Given the description of an element on the screen output the (x, y) to click on. 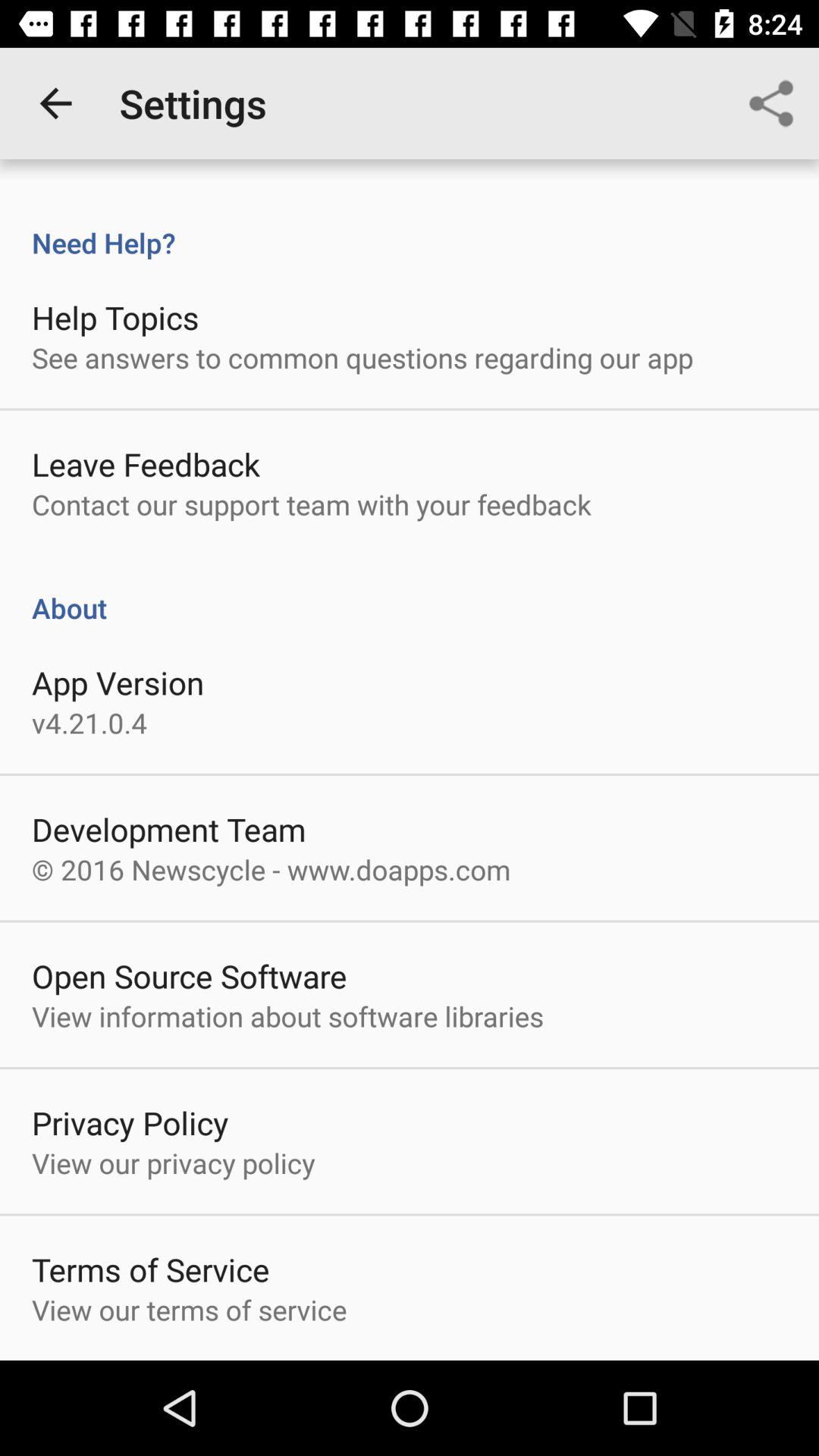
turn on the app version icon (117, 682)
